Given the description of an element on the screen output the (x, y) to click on. 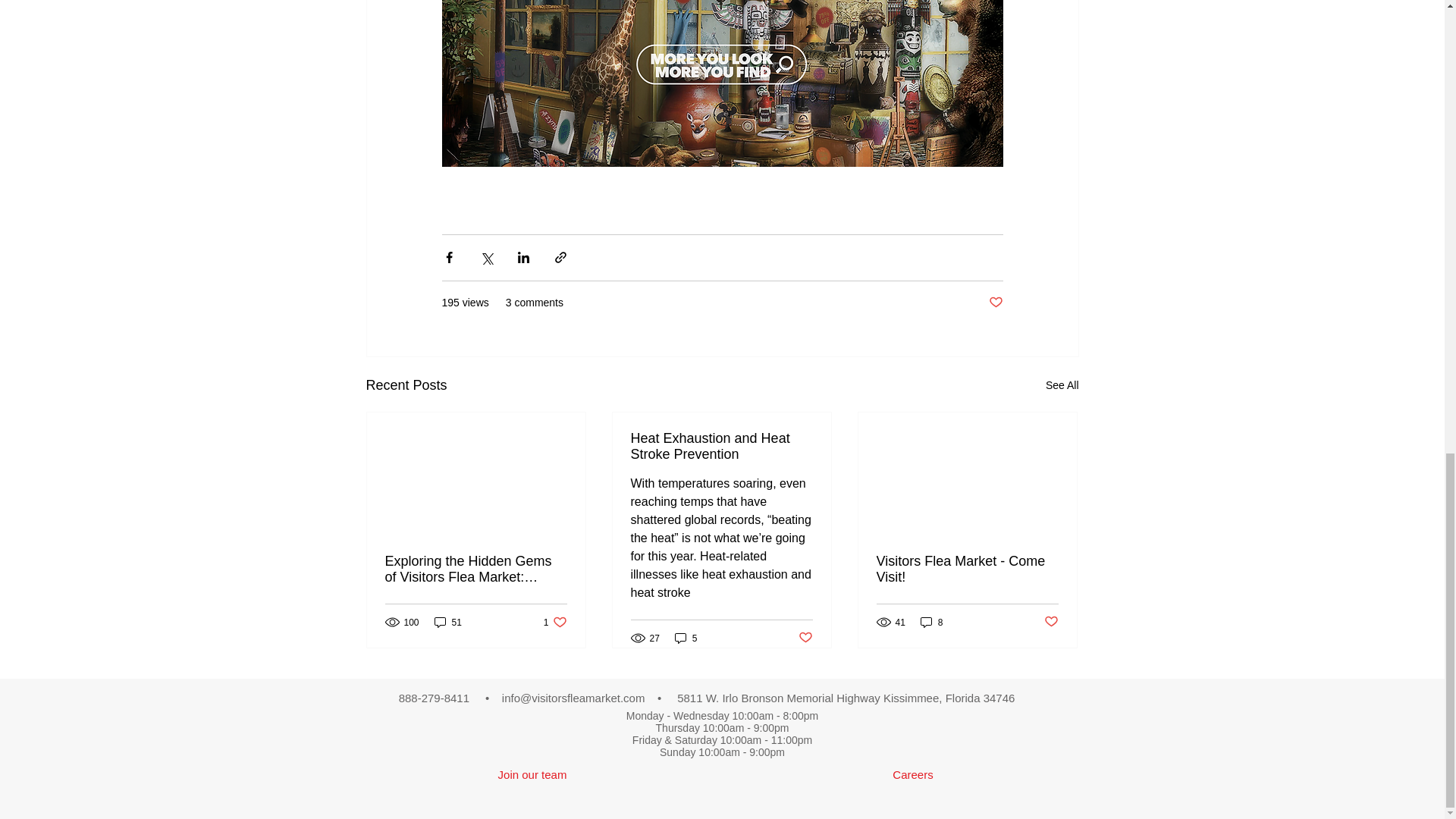
Join our team (531, 774)
Post not marked as liked (995, 302)
Careers (555, 622)
Post not marked as liked (913, 774)
8 (1050, 621)
Heat Exhaustion and Heat Stroke Prevention (931, 622)
Post not marked as liked (721, 446)
Visitors Flea Market - Come Visit! (804, 637)
See All (967, 569)
5 (1061, 385)
51 (685, 637)
